Given the description of an element on the screen output the (x, y) to click on. 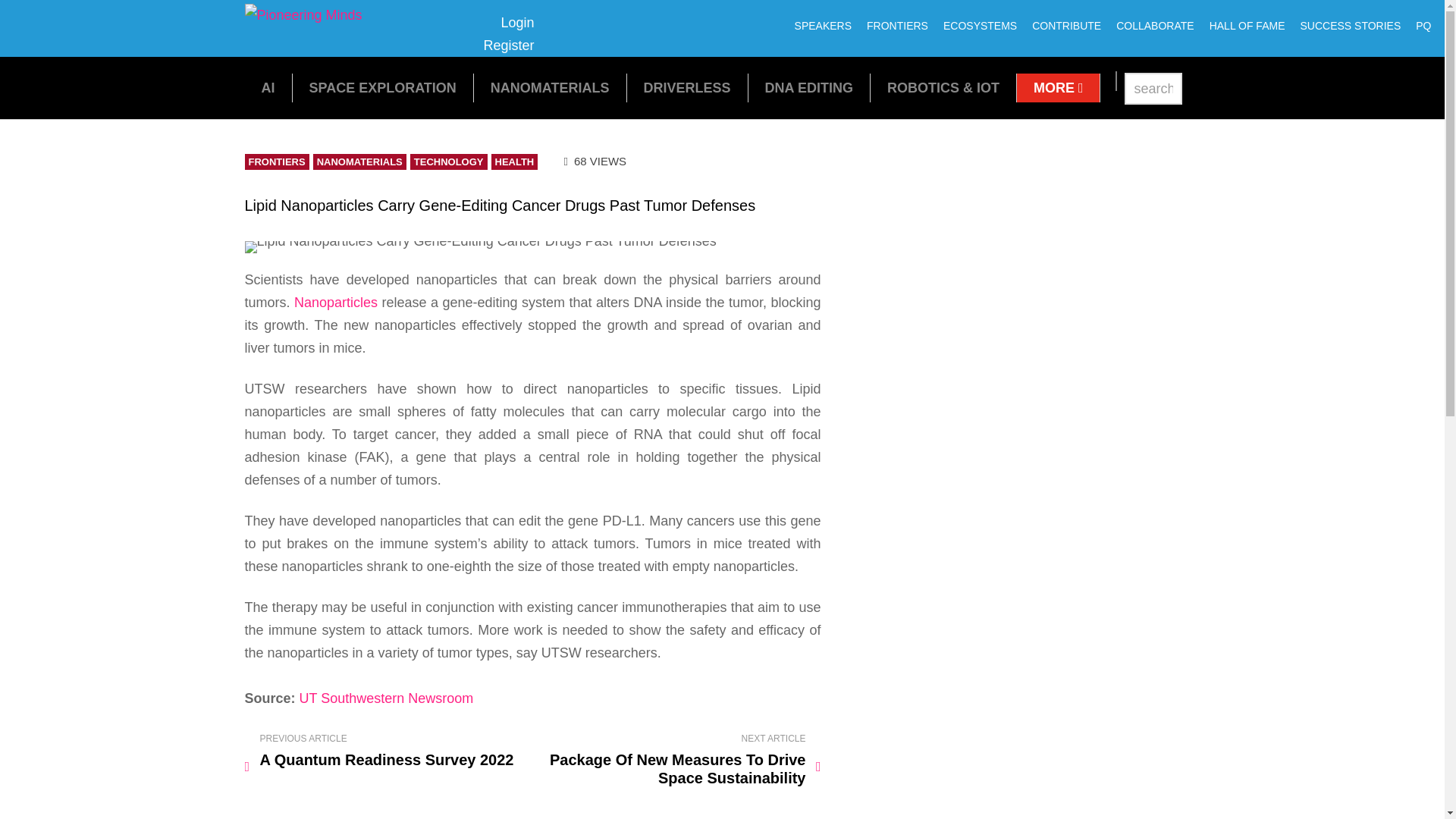
Package Of New Measures To Drive Space Sustainability (679, 760)
DNA EDITING (809, 88)
HALL OF FAME (1247, 26)
SPACE EXPLORATION (382, 88)
SPEAKERS (823, 26)
PQ (1422, 26)
AI (267, 88)
DRIVERLESS (686, 88)
FRONTIERS (897, 26)
MORE (508, 34)
Pioneering Minds (1058, 88)
SUCCESS STORIES (302, 14)
NANOMATERIALS (1349, 26)
ECOSYSTEMS (550, 88)
